Given the description of an element on the screen output the (x, y) to click on. 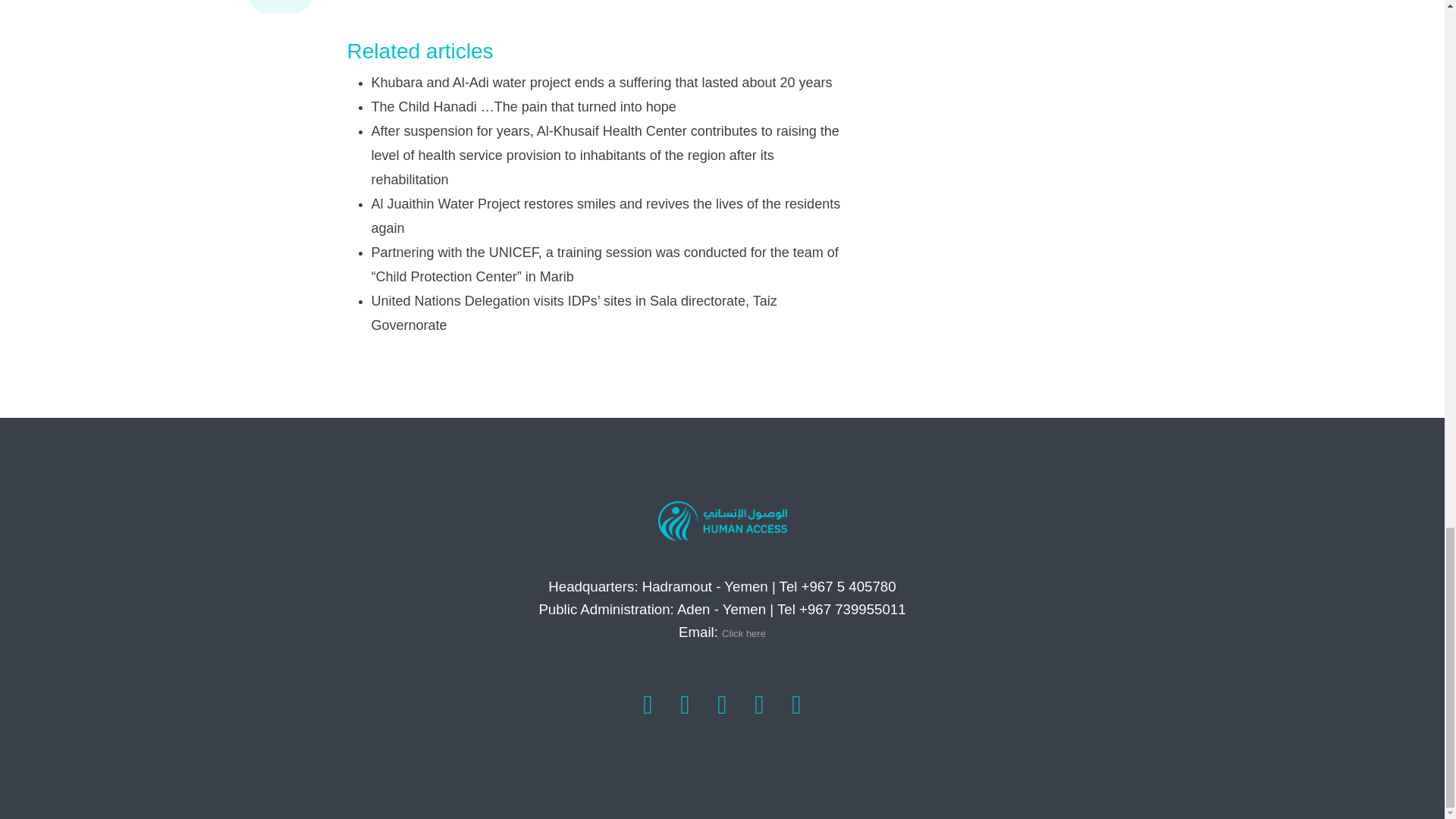
Email (743, 633)
